Given the description of an element on the screen output the (x, y) to click on. 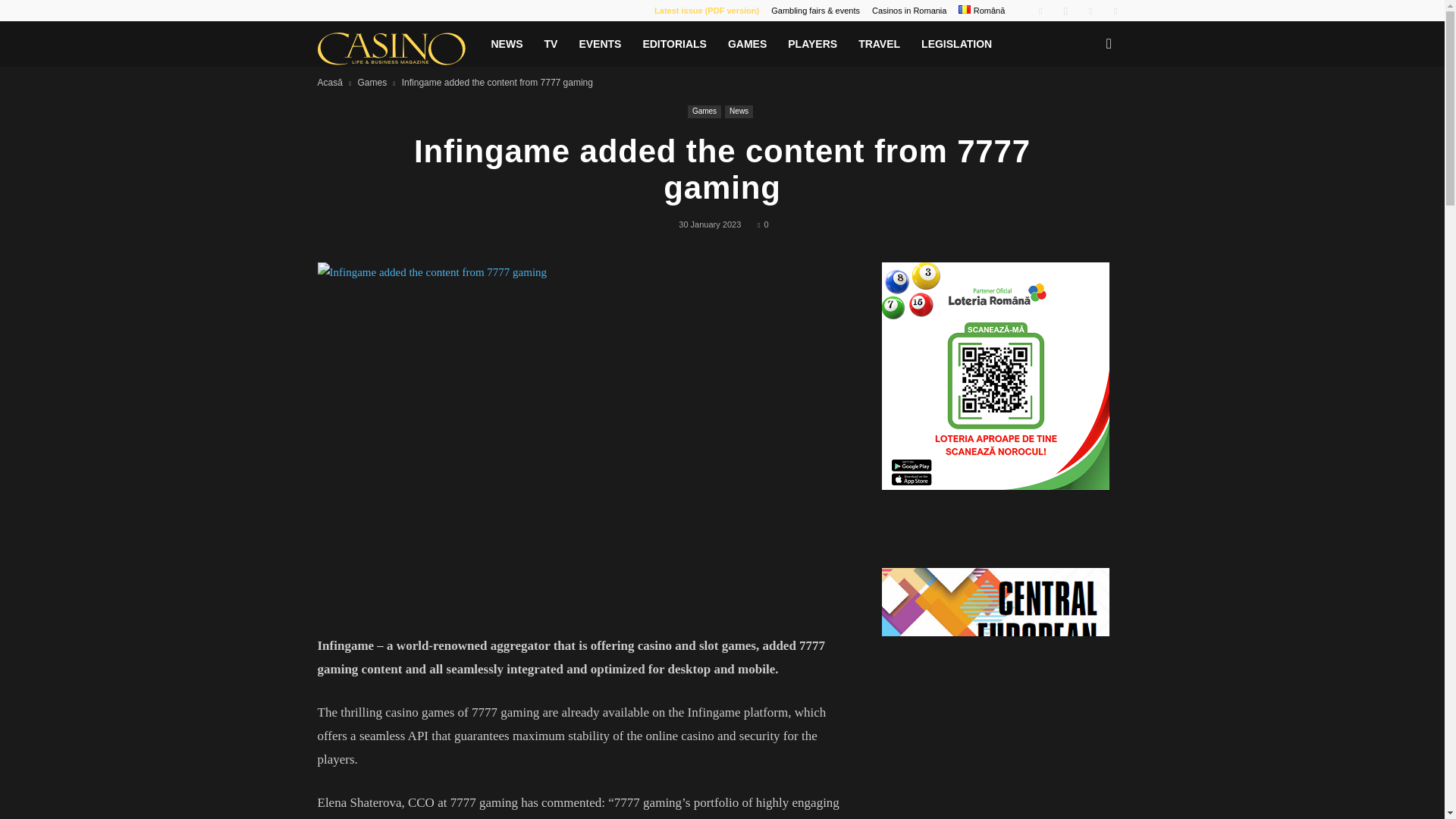
Twitter (1090, 10)
Facebook (1040, 10)
Instagram (1065, 10)
NEWS (507, 43)
Casinos in Romania (909, 10)
Youtube (1114, 10)
